Given the description of an element on the screen output the (x, y) to click on. 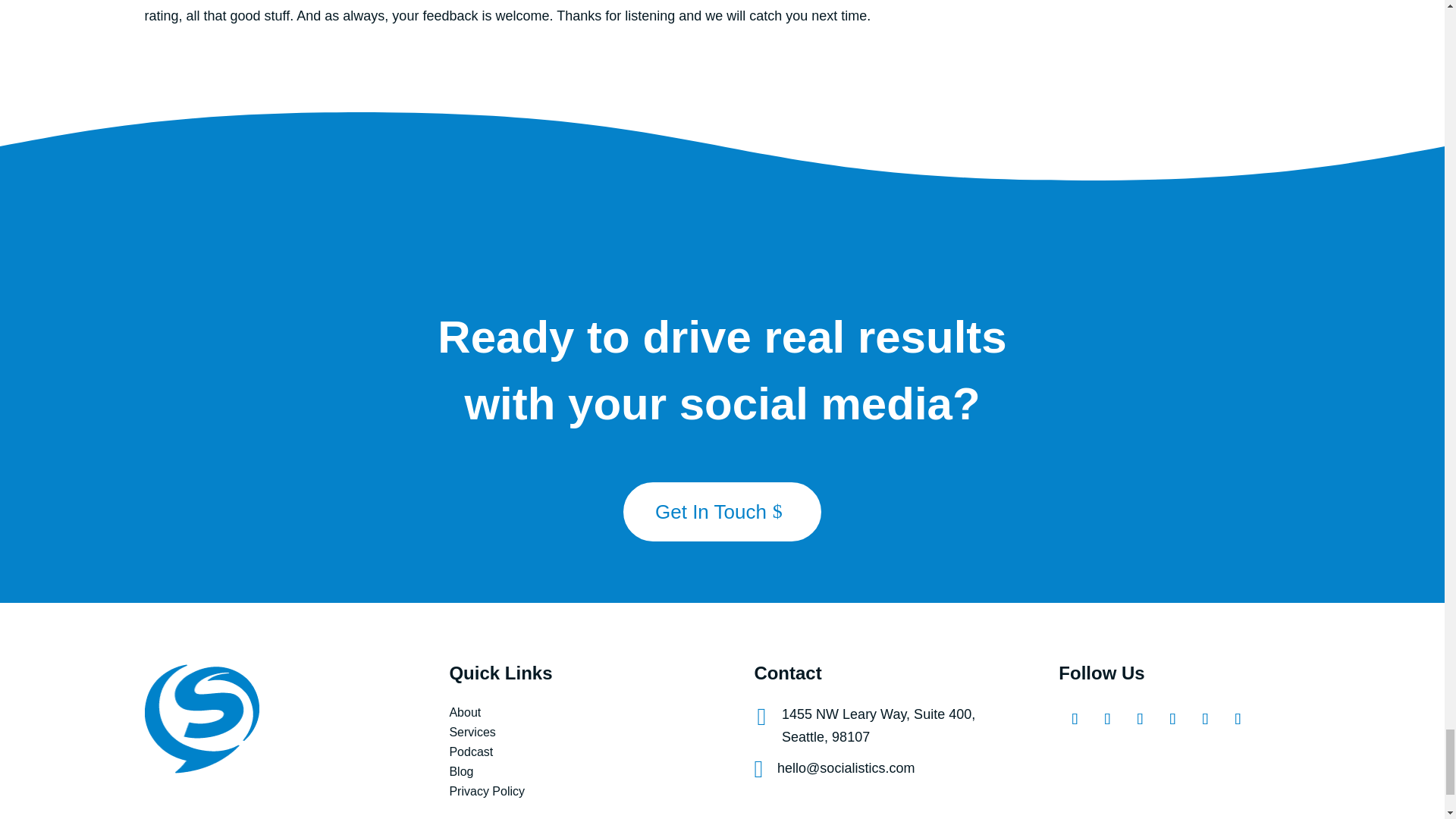
Follow on LinkedIn (1202, 715)
Follow on Instagram (1104, 715)
dot-pattern-3 (48, 202)
Follow on Youtube (1169, 715)
dot-pattern-3 (1396, 534)
Follow on X (1137, 715)
Follow on Facebook (1071, 715)
Follow on TikTok (1234, 715)
